Given the description of an element on the screen output the (x, y) to click on. 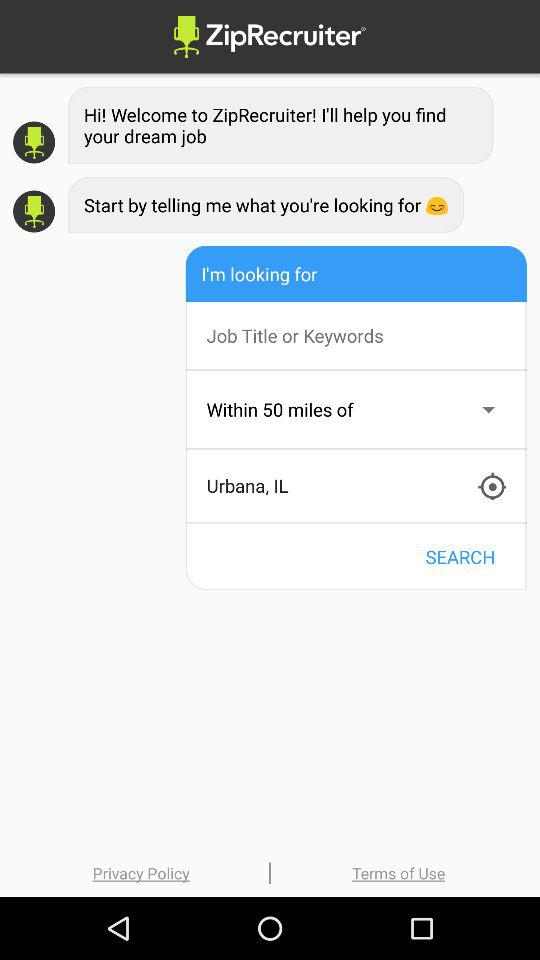
search box (366, 335)
